Given the description of an element on the screen output the (x, y) to click on. 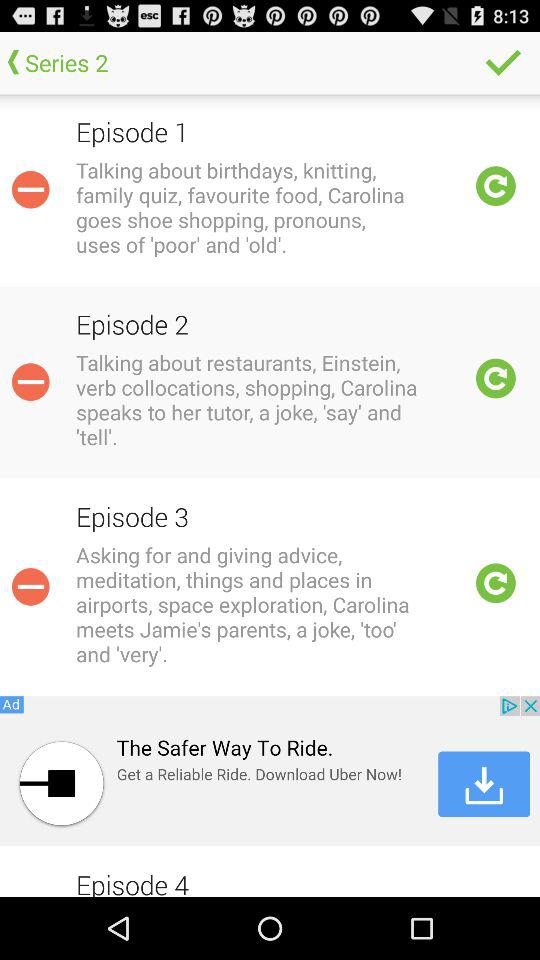
refresh (496, 378)
